Given the description of an element on the screen output the (x, y) to click on. 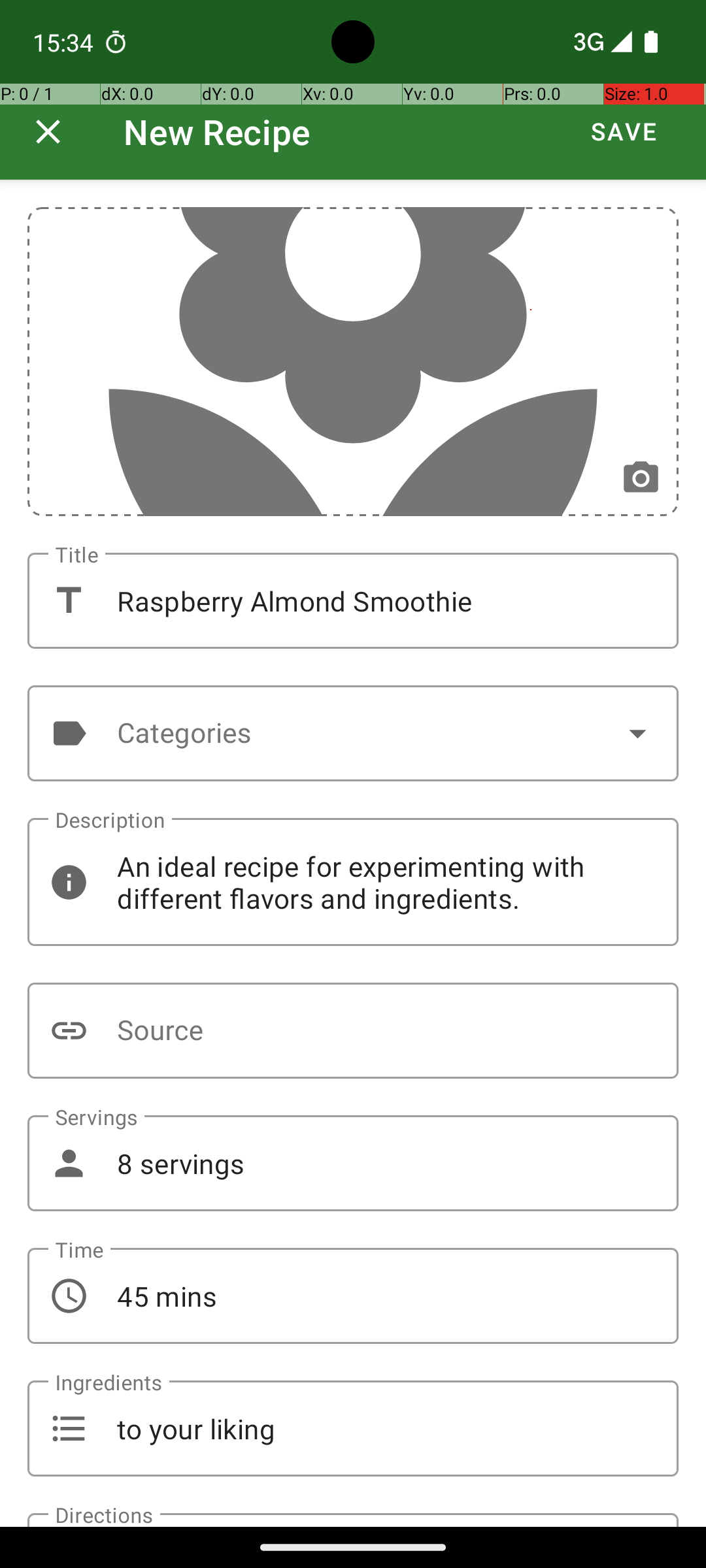
Blend together raspberries, almond milk, banana, and a scoop of almond butter until smooth. Try adding a pinch of your favorite spices for extra flavor. Element type: android.widget.EditText (352, 1519)
